Given the description of an element on the screen output the (x, y) to click on. 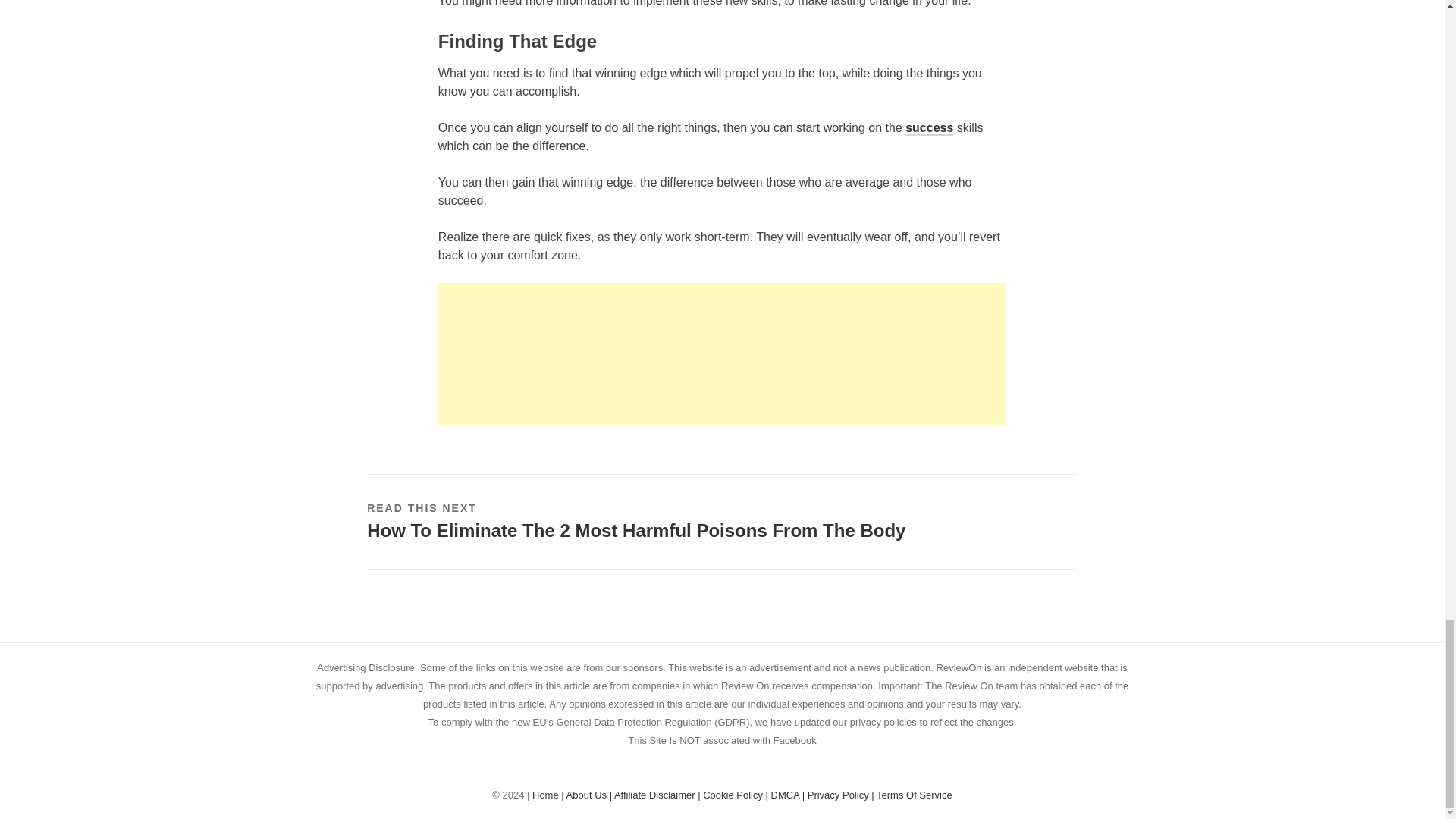
How To Eliminate The 2 Most Harmful Poisons From The Body (635, 530)
Terms Of Service (914, 794)
Advertisement (722, 353)
How To Eliminate The 2 Most Harmful Poisons From The Body (635, 530)
success (929, 128)
